Given the description of an element on the screen output the (x, y) to click on. 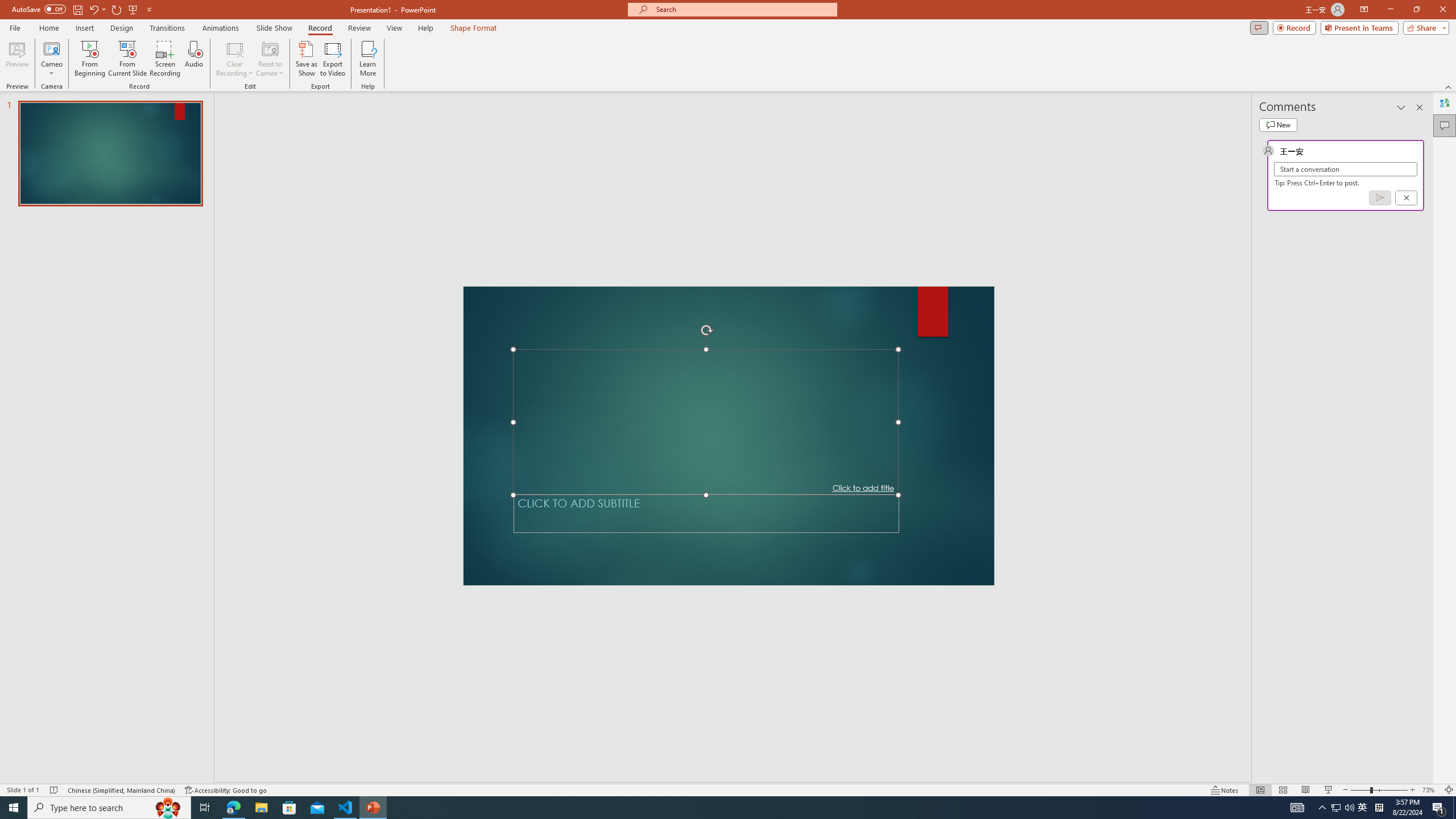
Immersive Reader (263, 92)
Undo Paragraph Formatting (159, 18)
Editing (1355, 48)
Percent: (690, 410)
MSO Generic Control Container (811, 379)
Draft (153, 91)
Navigation Pane (350, 112)
Class: NetUIScrollBar (1448, 449)
Focus  (1175, 773)
Whole page (730, 389)
Google Chrome (729, 800)
Review (572, 47)
Draw (235, 47)
